Given the description of an element on the screen output the (x, y) to click on. 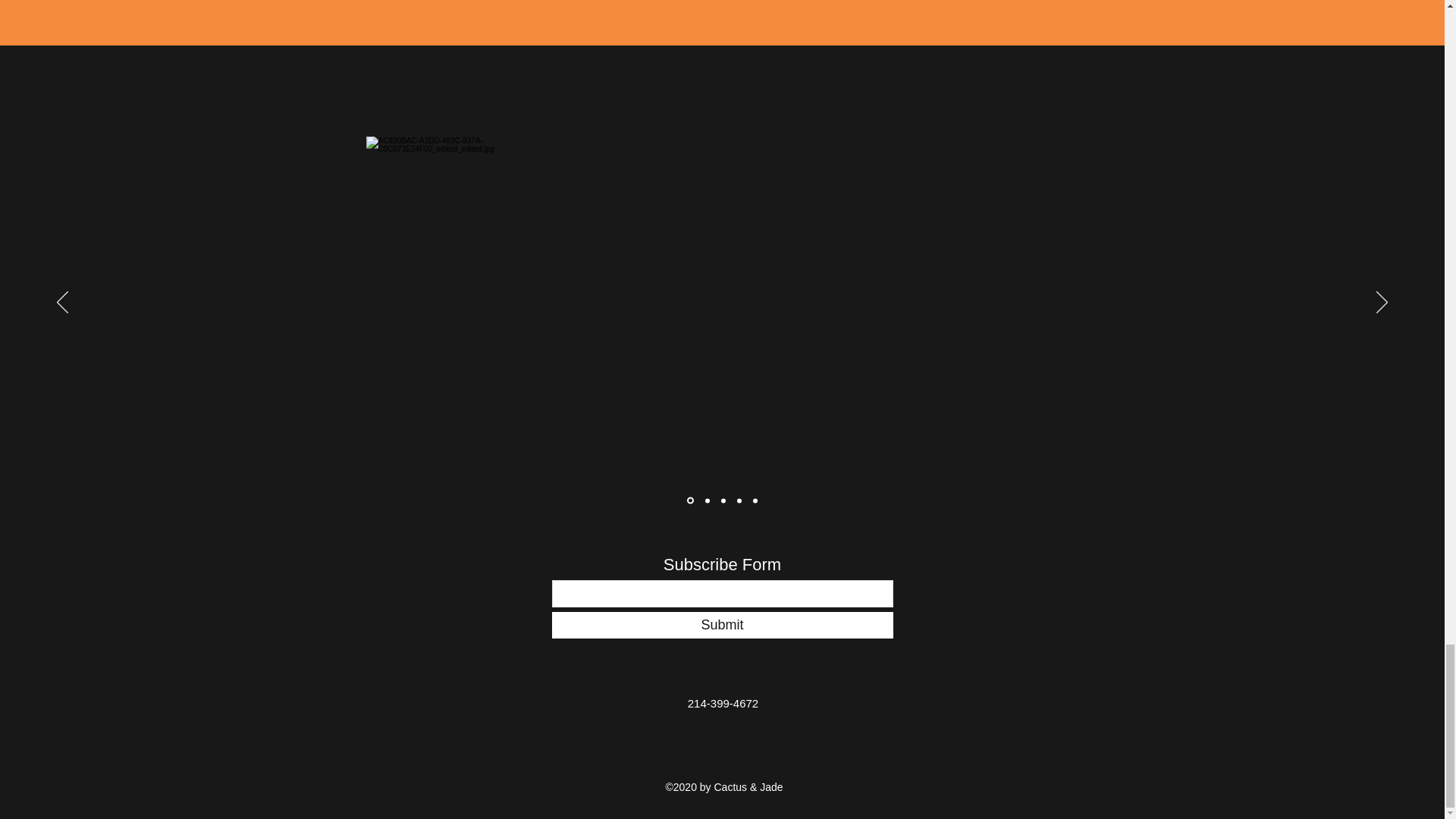
Submit (722, 624)
